Given the description of an element on the screen output the (x, y) to click on. 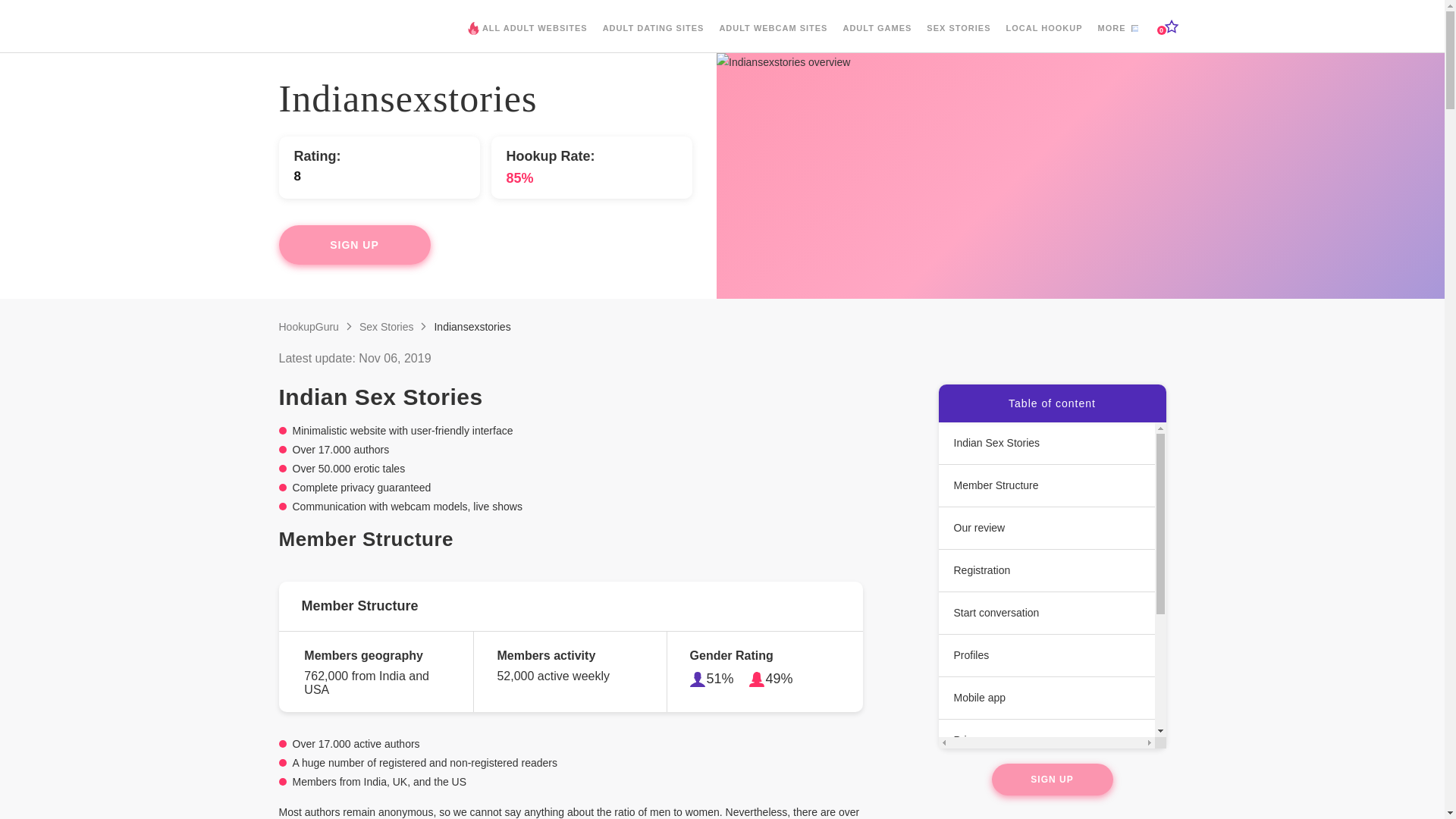
ALL ADULT WEBSITES (531, 40)
Sex Stories (386, 326)
ADULT DATING SITES (653, 38)
SIGN UP (354, 244)
ADULT GAMES (876, 38)
SEX STORIES (957, 38)
HookupGuru (309, 326)
LOCAL HOOKUP (1043, 38)
ADULT WEBCAM SITES (772, 38)
